Given the description of an element on the screen output the (x, y) to click on. 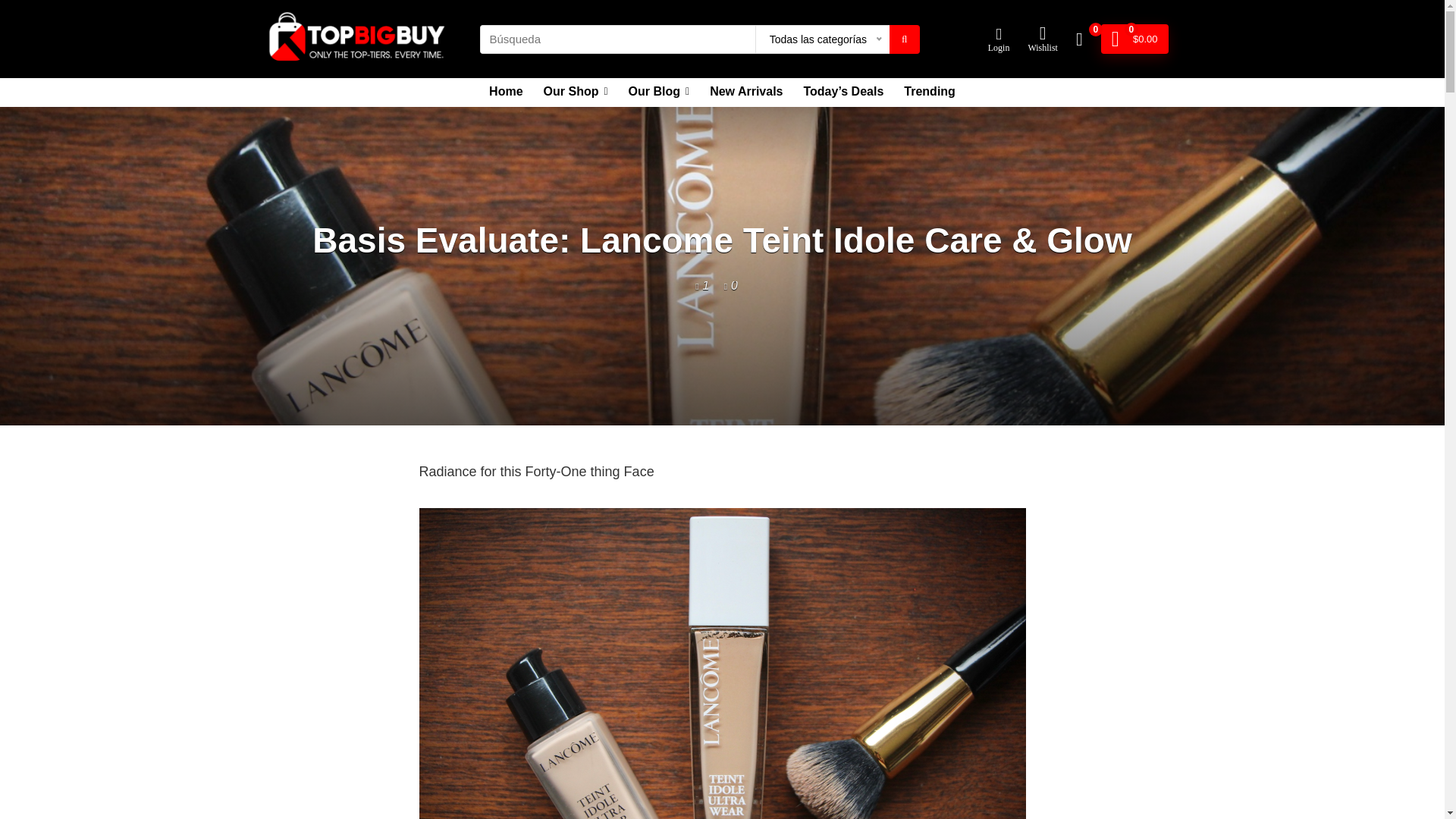
Our Shop (575, 92)
Home (505, 92)
